Given the description of an element on the screen output the (x, y) to click on. 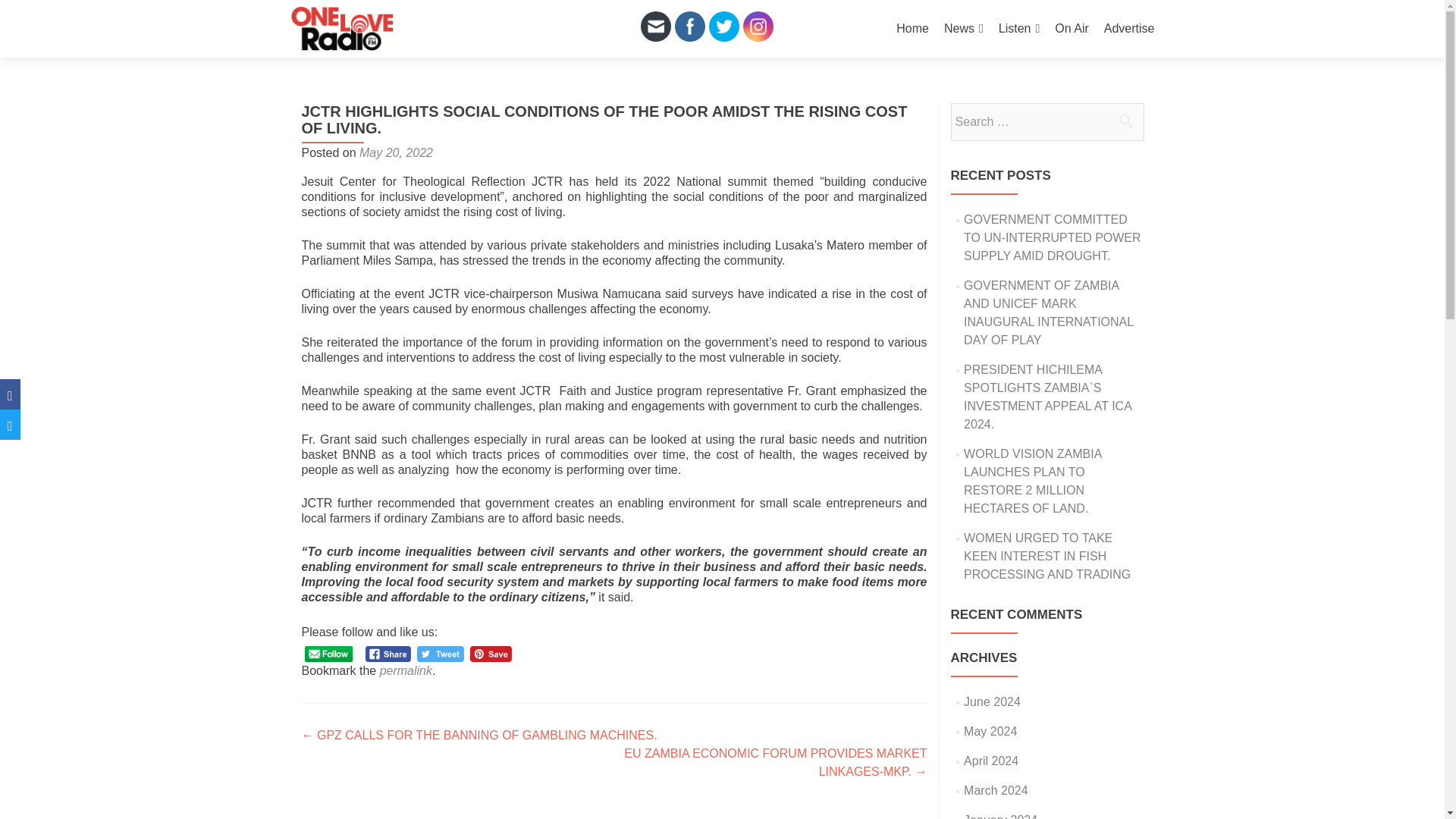
Facebook Share (388, 653)
News (963, 28)
On Air (1070, 28)
Search (1125, 120)
Advertise (1128, 28)
Twitter (724, 26)
January 2024 (999, 816)
Search (1125, 120)
Pin Share (491, 653)
Listen (1019, 28)
March 2024 (995, 789)
Facebook (689, 26)
